Given the description of an element on the screen output the (x, y) to click on. 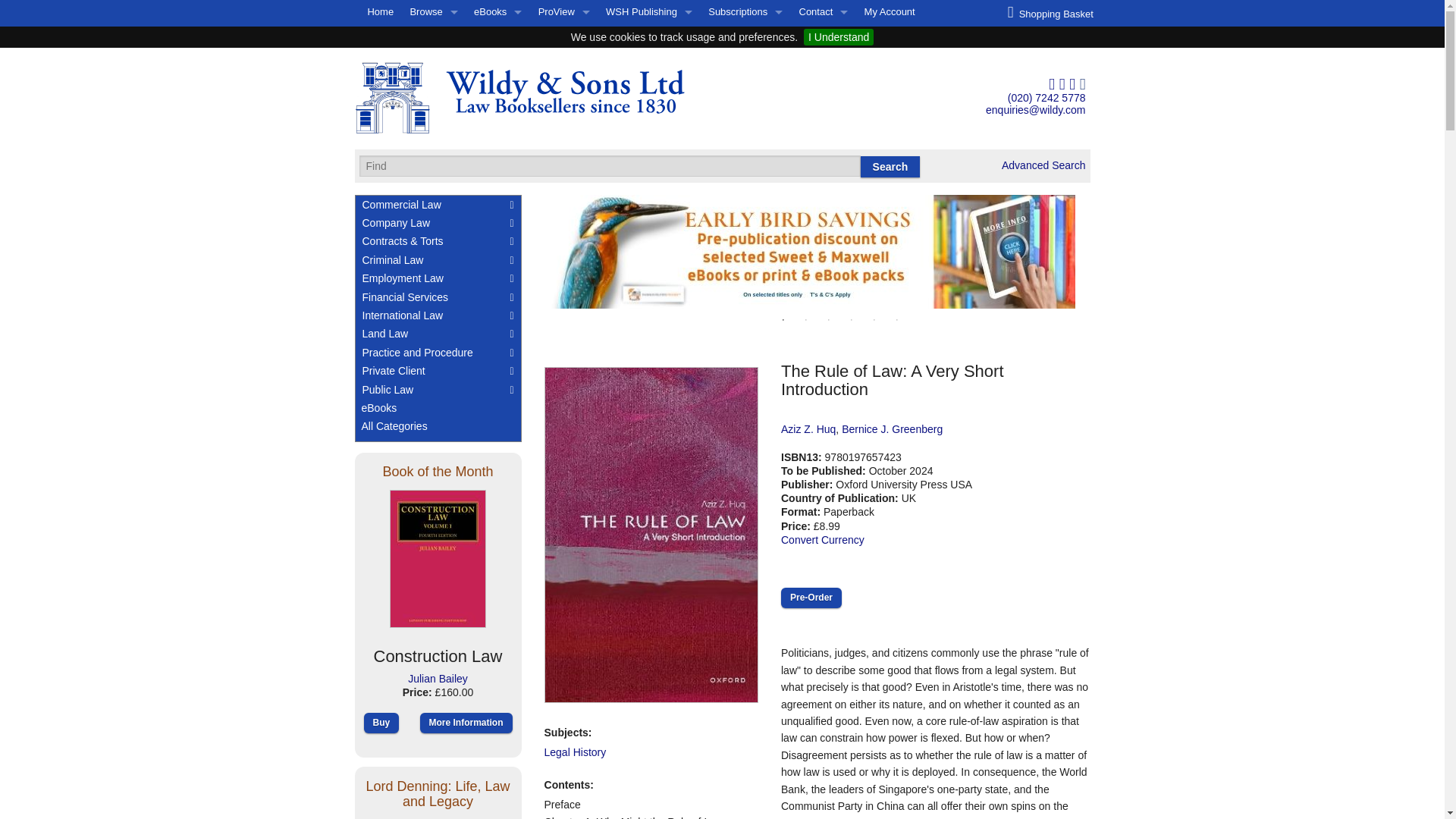
About ProView (562, 36)
All Titles by Subject (433, 36)
Browse (433, 12)
Home (380, 12)
ProView by Subject (562, 60)
ProView (562, 12)
ProView Highlights (562, 84)
Early Bird Discounts (562, 109)
Subscriptions (745, 12)
Our Titles (648, 60)
